Given the description of an element on the screen output the (x, y) to click on. 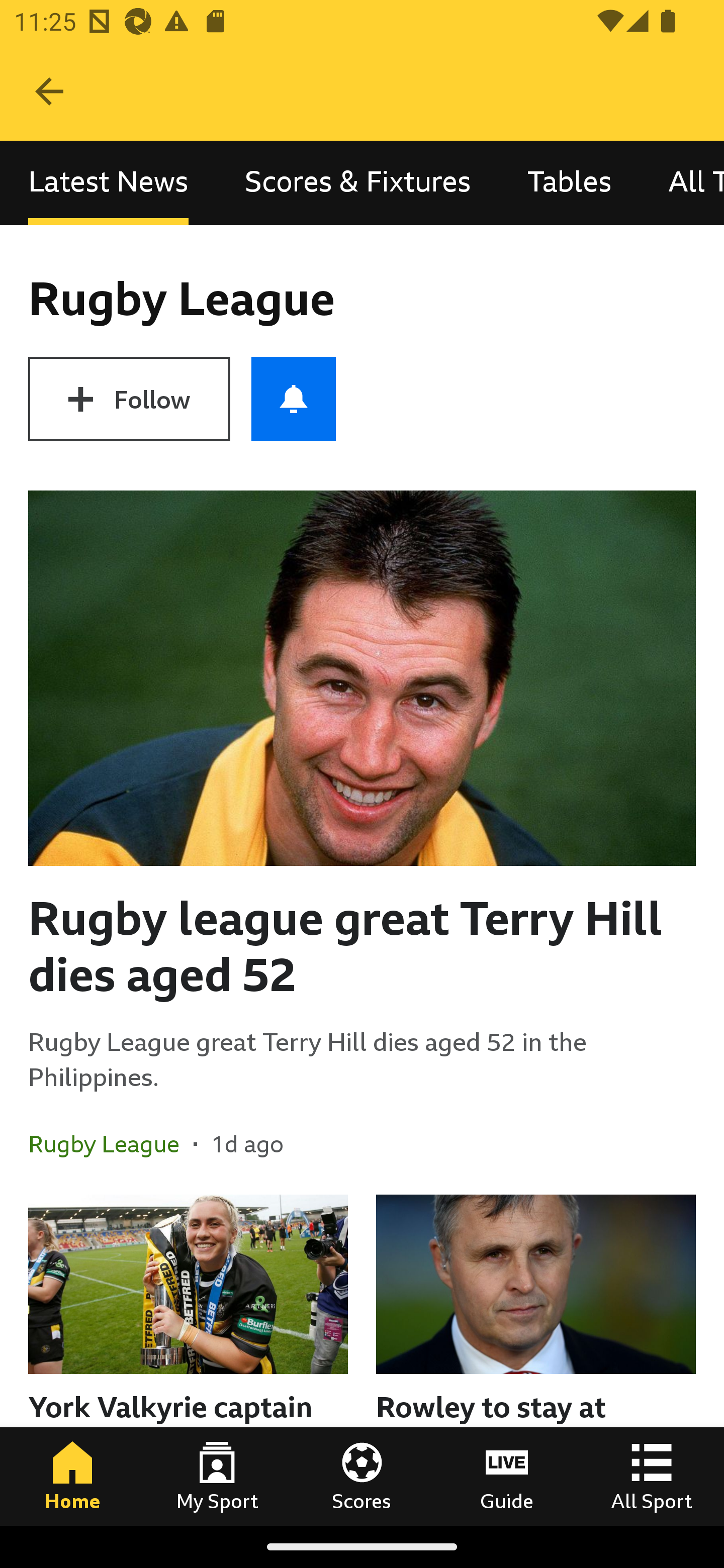
Navigate up (49, 91)
Latest News, selected Latest News (108, 183)
Scores & Fixtures (357, 183)
Tables (569, 183)
Follow Rugby League Follow (129, 398)
Push notifications for Rugby League (293, 398)
My Sport (216, 1475)
Scores (361, 1475)
Guide (506, 1475)
All Sport (651, 1475)
